Given the description of an element on the screen output the (x, y) to click on. 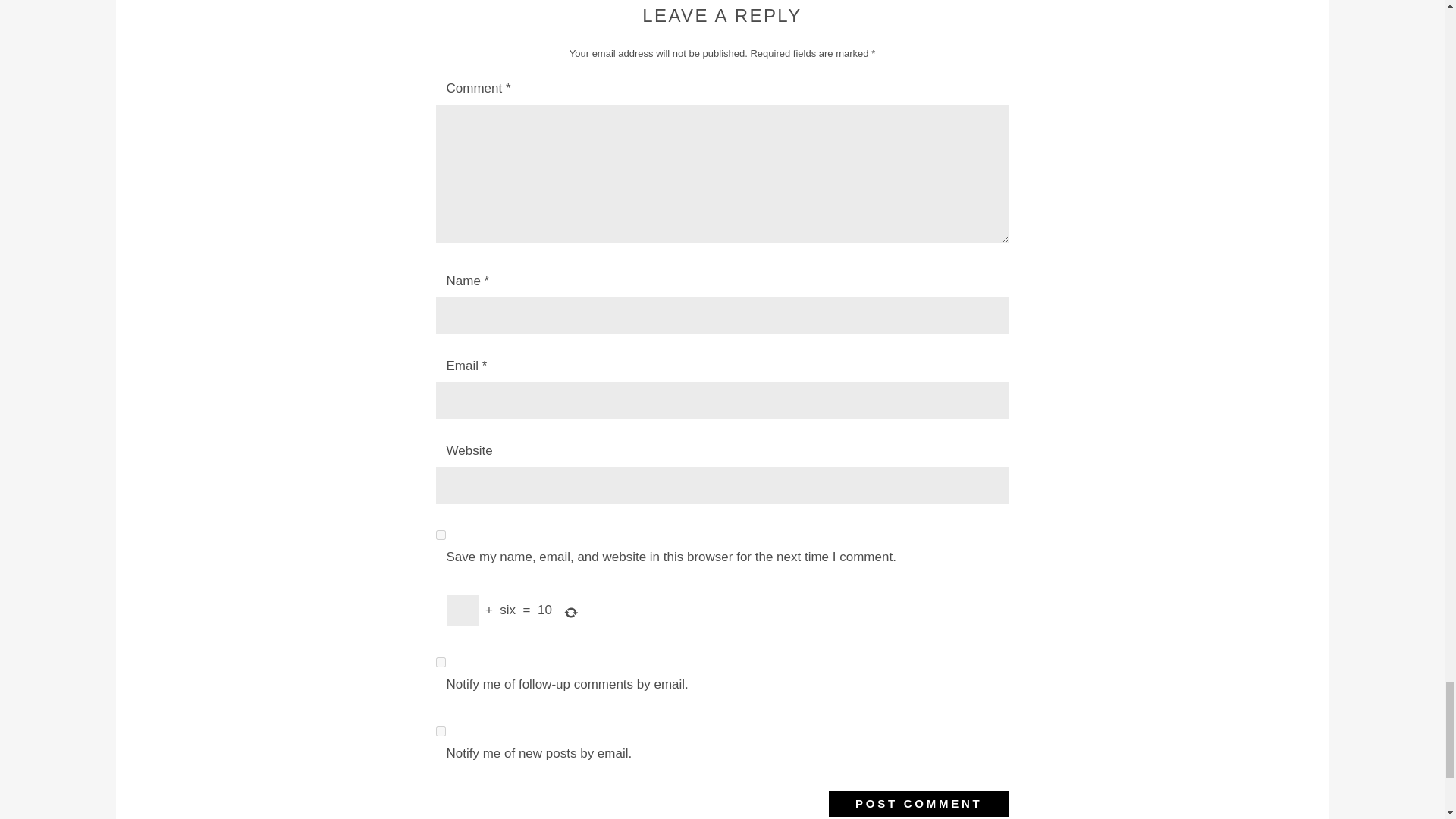
subscribe (440, 662)
yes (440, 534)
Post Comment (918, 804)
subscribe (440, 731)
